Given the description of an element on the screen output the (x, y) to click on. 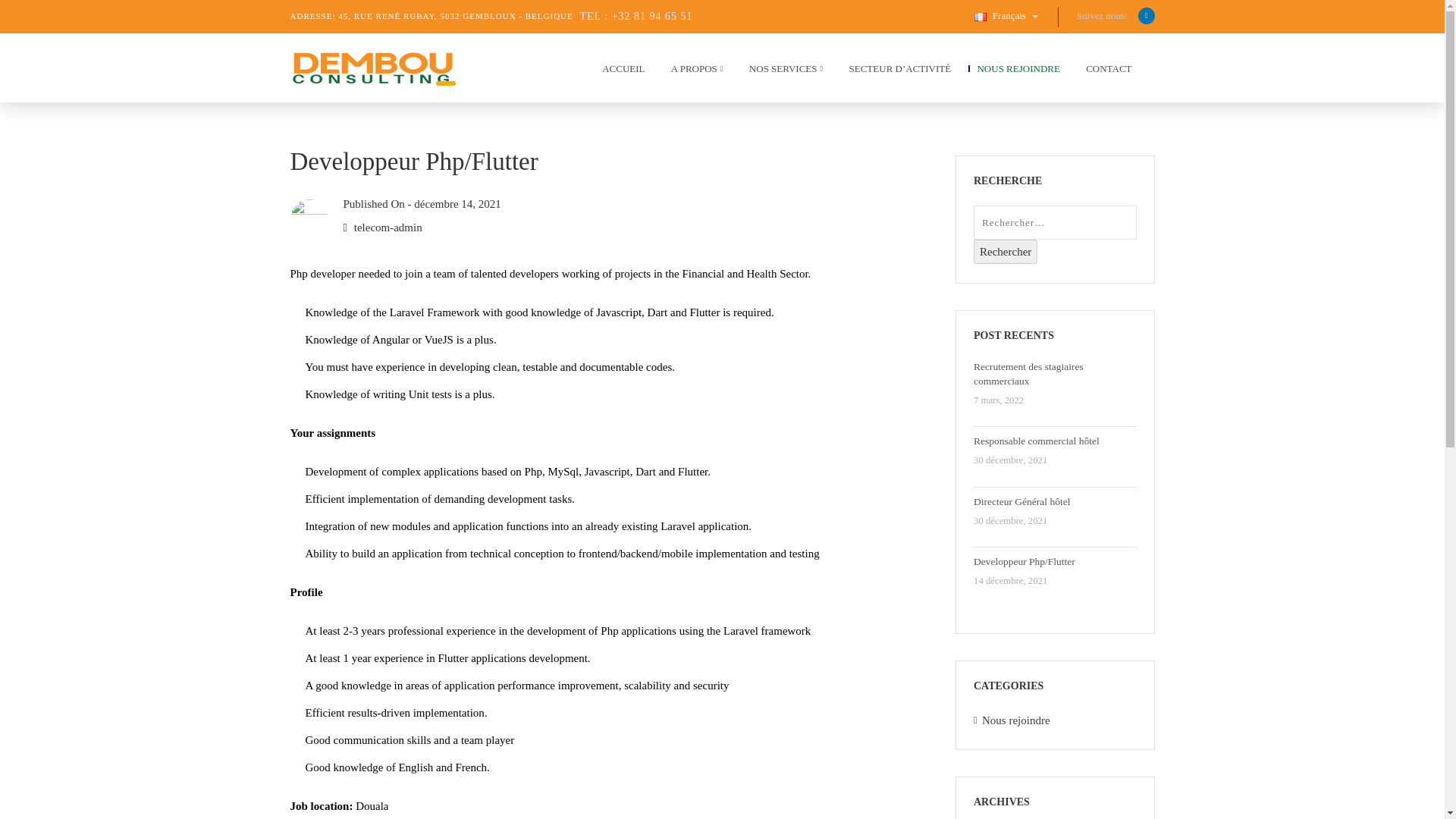
NOUS REJOINDRE (1013, 71)
ACCUEIL (619, 71)
NOS SERVICES (781, 71)
Rechercher (1005, 251)
Nous rejoindre (1015, 720)
Rechercher (1005, 251)
Recrutement des stagiaires commerciaux (1055, 374)
telecom-admin (387, 227)
Rechercher (1005, 251)
A PROPOS (692, 71)
